Given the description of an element on the screen output the (x, y) to click on. 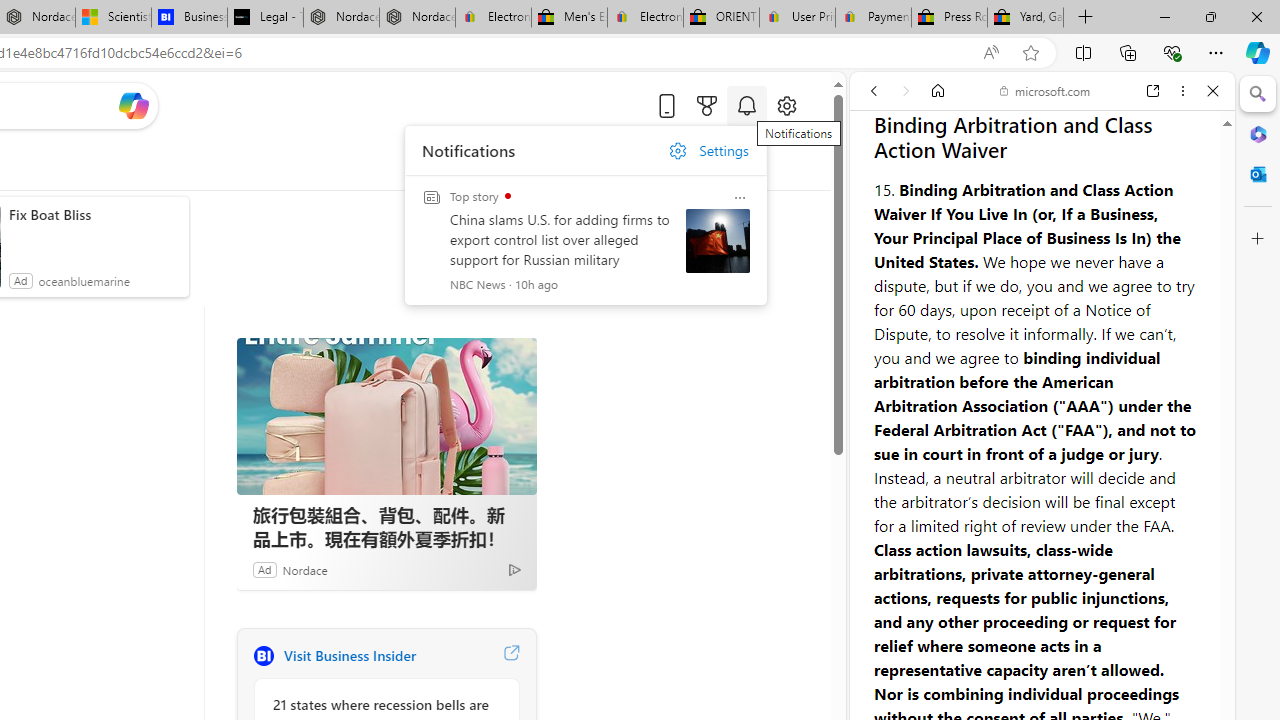
User Privacy Notice | eBay (797, 17)
Nordace - Summer Adventures 2024 (340, 17)
Ad (264, 569)
This site scope (936, 180)
Open link in new tab (1153, 91)
Collections (1128, 52)
To get missing image descriptions, open the context menu. (449, 162)
Fix Boat Bliss (93, 214)
Microsoft rewards (707, 105)
Visit Business Insider website (511, 655)
Add this page to favorites (Ctrl+D) (1030, 53)
Payments Terms of Use | eBay.com (873, 17)
